Given the description of an element on the screen output the (x, y) to click on. 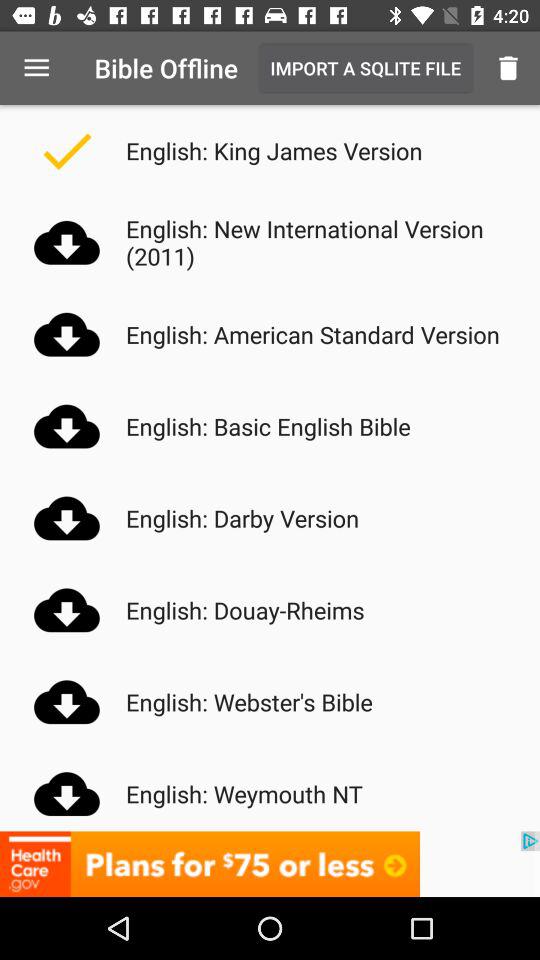
advertisement banner (270, 864)
